Given the description of an element on the screen output the (x, y) to click on. 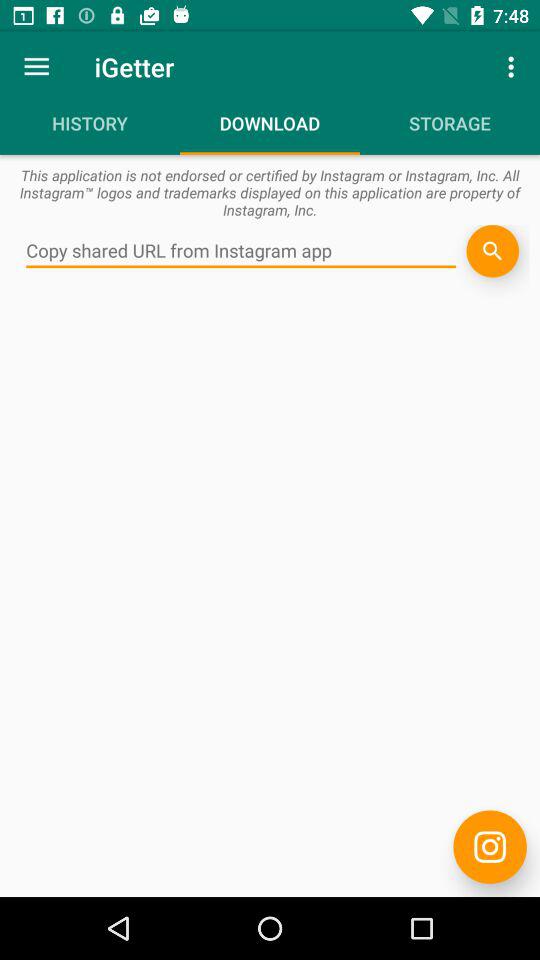
look up url (241, 251)
